Given the description of an element on the screen output the (x, y) to click on. 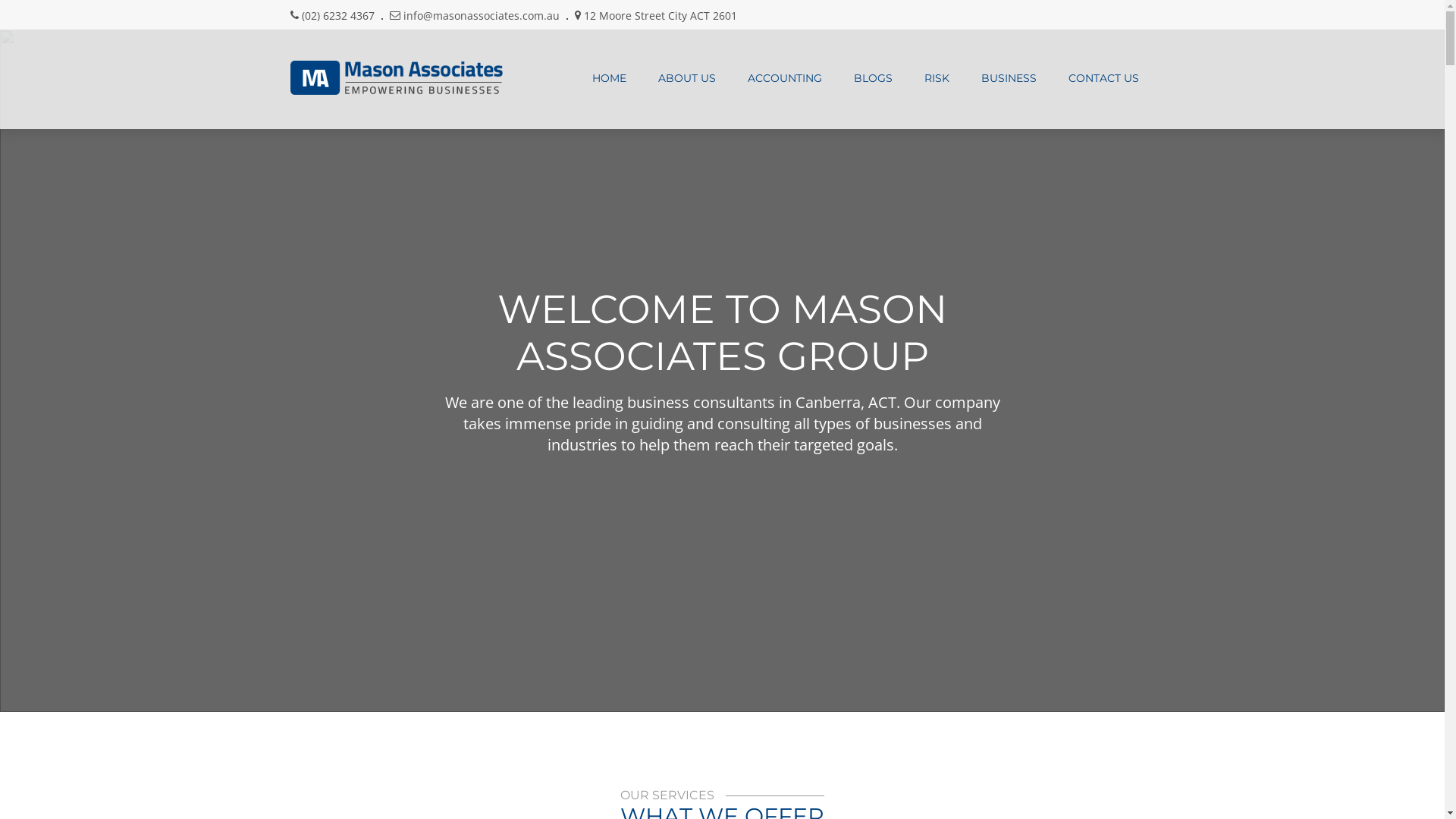
HOME Element type: text (609, 77)
CONTACT US Element type: text (1103, 77)
ABOUT US Element type: text (686, 77)
ACCOUNTING Element type: text (784, 77)
BLOGS Element type: text (872, 77)
info@masonassociates.com.au Element type: text (481, 15)
RISK Element type: text (936, 77)
BUSINESS Element type: text (1007, 77)
